Given the description of an element on the screen output the (x, y) to click on. 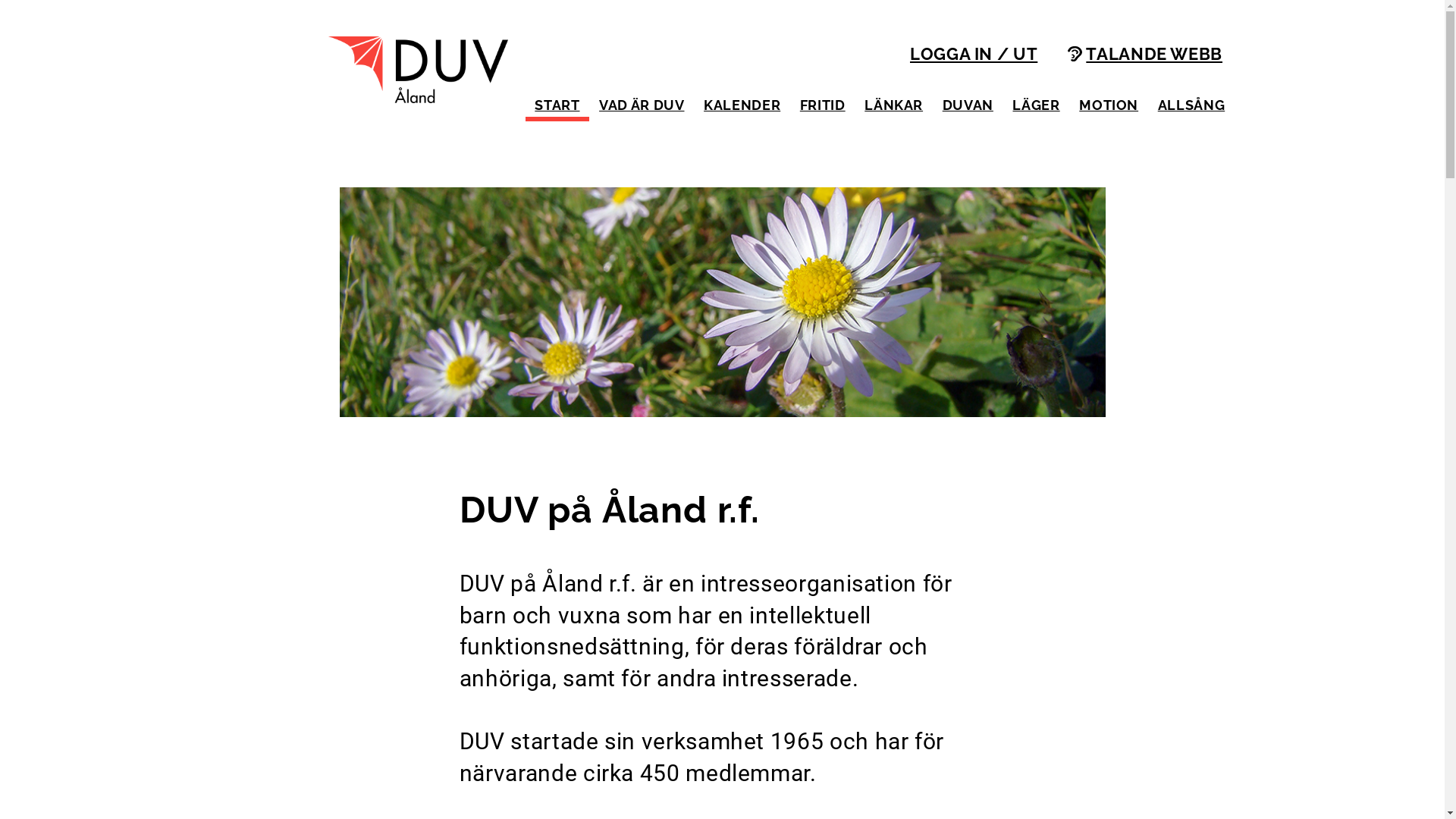
FRITID Element type: text (822, 104)
DUVAN Element type: text (967, 104)
TALANDE WEBB Element type: text (1144, 56)
START Element type: text (556, 104)
LOGGA IN / UT Element type: text (973, 56)
MOTION Element type: text (1108, 104)
KALENDER Element type: text (741, 104)
